Given the description of an element on the screen output the (x, y) to click on. 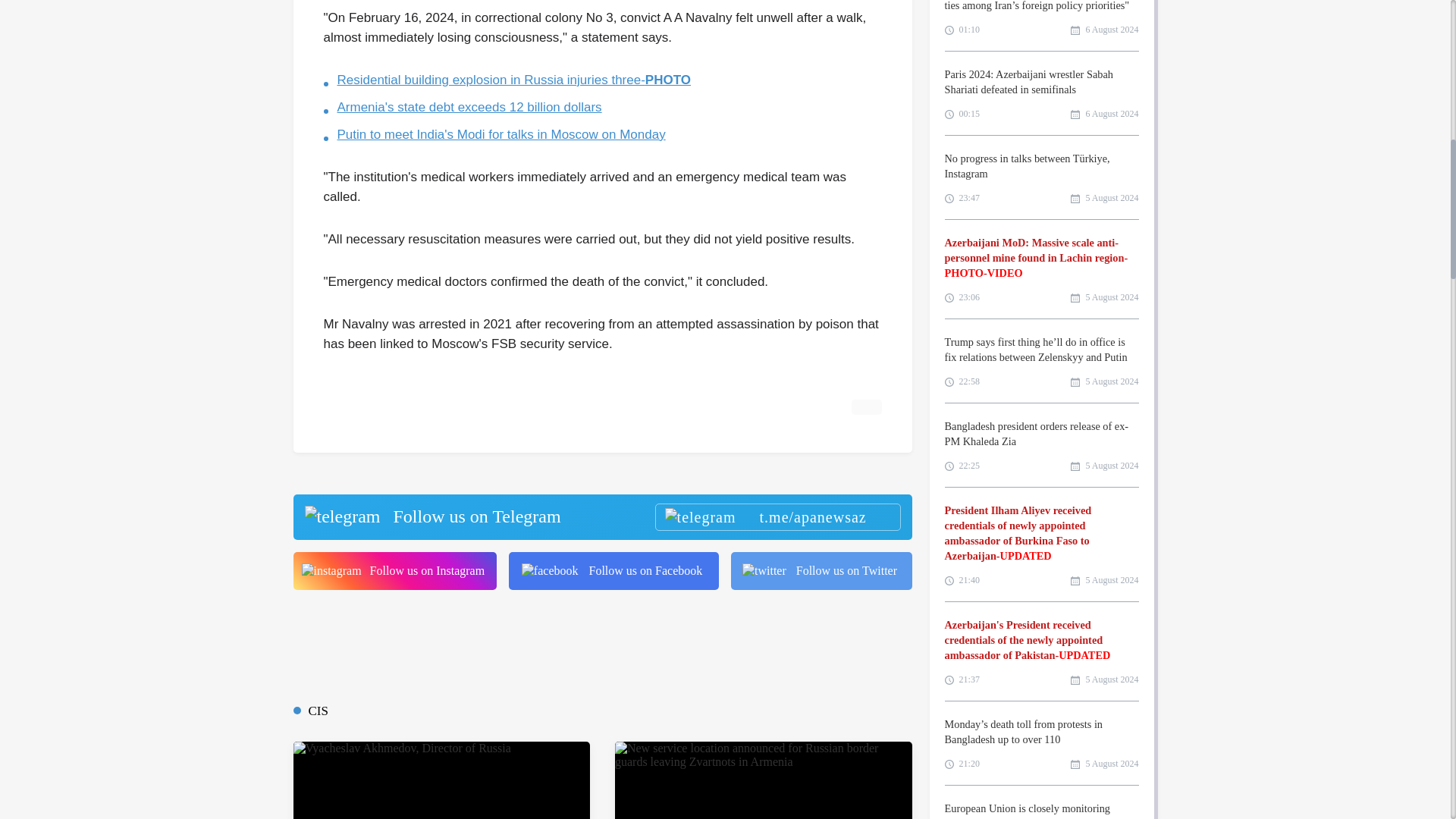
Follow us on Twitter (821, 570)
Follow us on Facebook (613, 570)
Follow us on Instagram (394, 570)
Follow us on Telegram (601, 516)
